Given the description of an element on the screen output the (x, y) to click on. 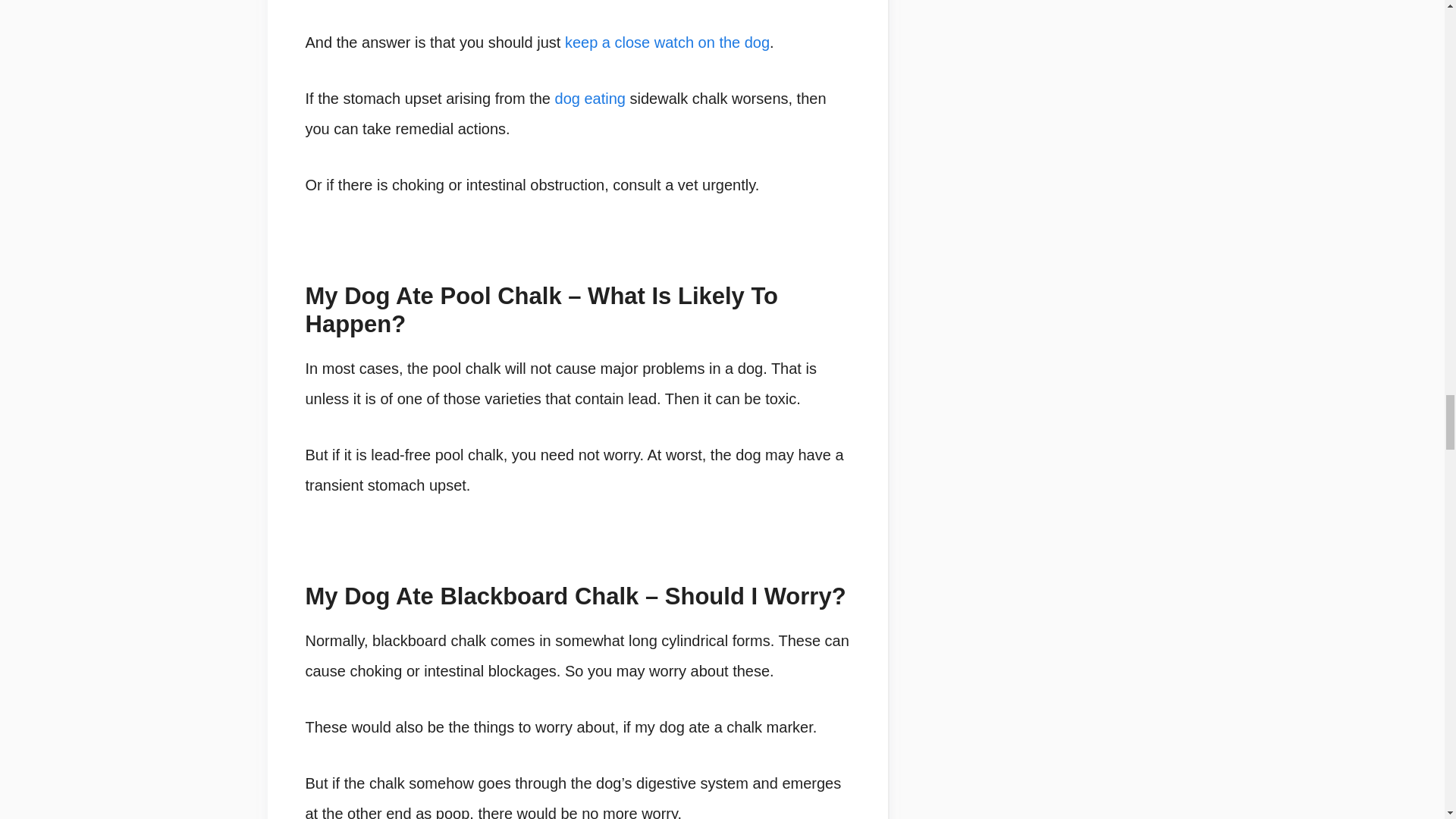
Why Does My Dog Keep Stretching? 7 Interesting Reasons (667, 42)
